Given the description of an element on the screen output the (x, y) to click on. 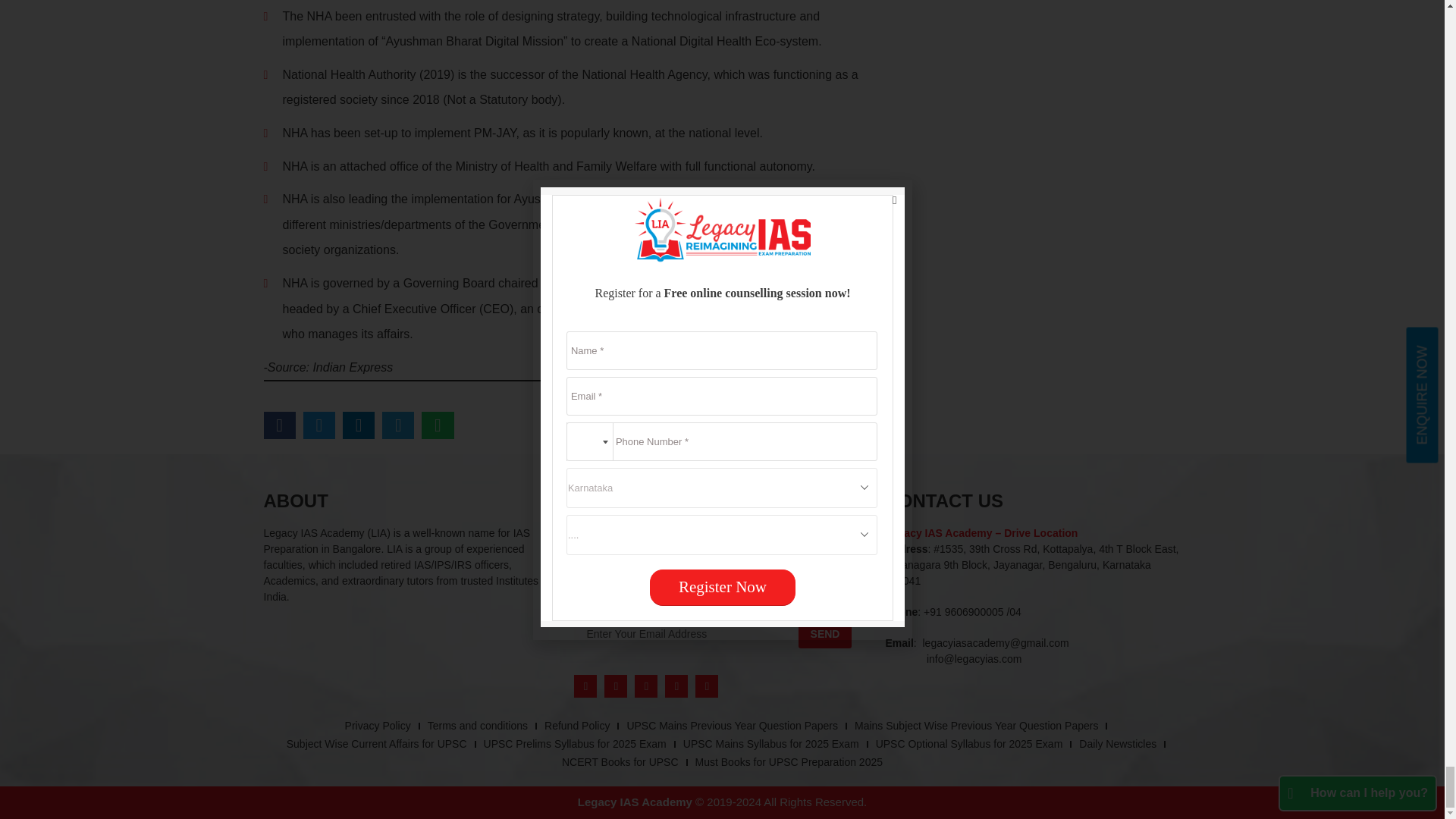
Send (824, 633)
Enter Your Email Address (685, 633)
